Given the description of an element on the screen output the (x, y) to click on. 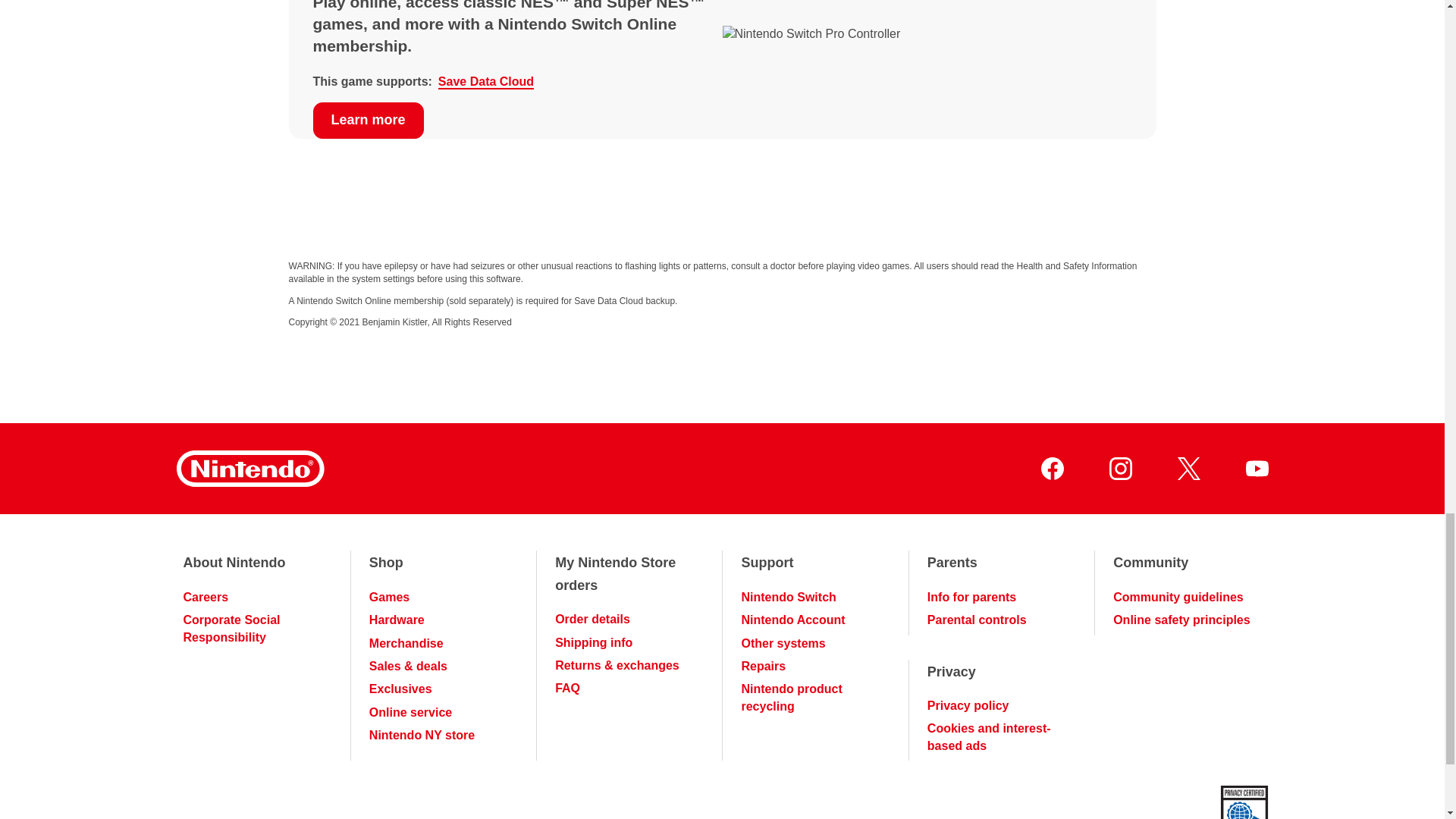
Nintendo on Facebook (1051, 468)
ESRB Privacy Certified (1244, 801)
Nintendo on YouTube (1256, 468)
Nintendo on Instagram (1119, 468)
Nintendo Homepage (249, 468)
Nintendo on Twitter (1187, 468)
